Given the description of an element on the screen output the (x, y) to click on. 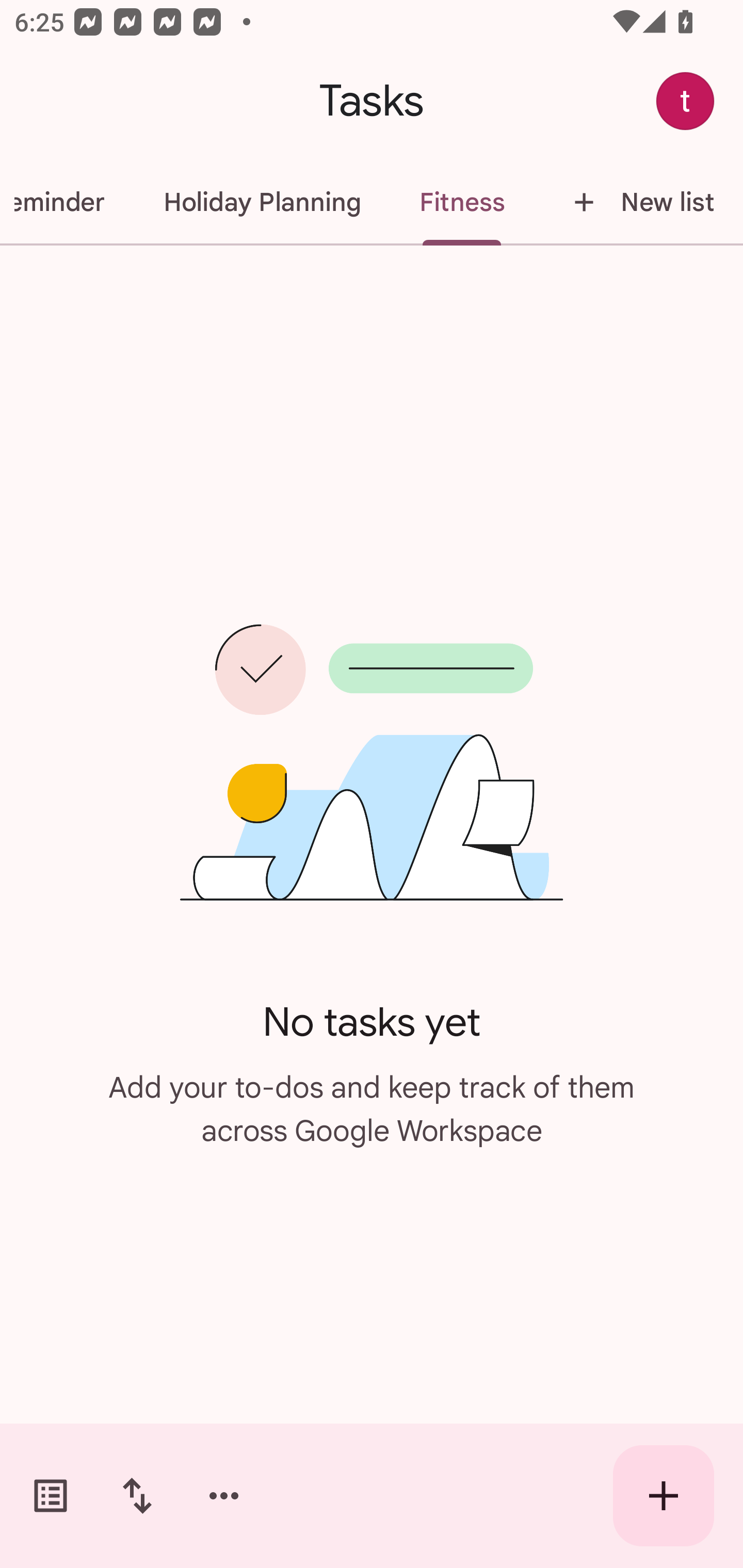
Reminder (67, 202)
Holiday Planning (262, 202)
New list (638, 202)
Switch task lists (50, 1495)
Create new task (663, 1495)
Change sort order (136, 1495)
More options (223, 1495)
